Given the description of an element on the screen output the (x, y) to click on. 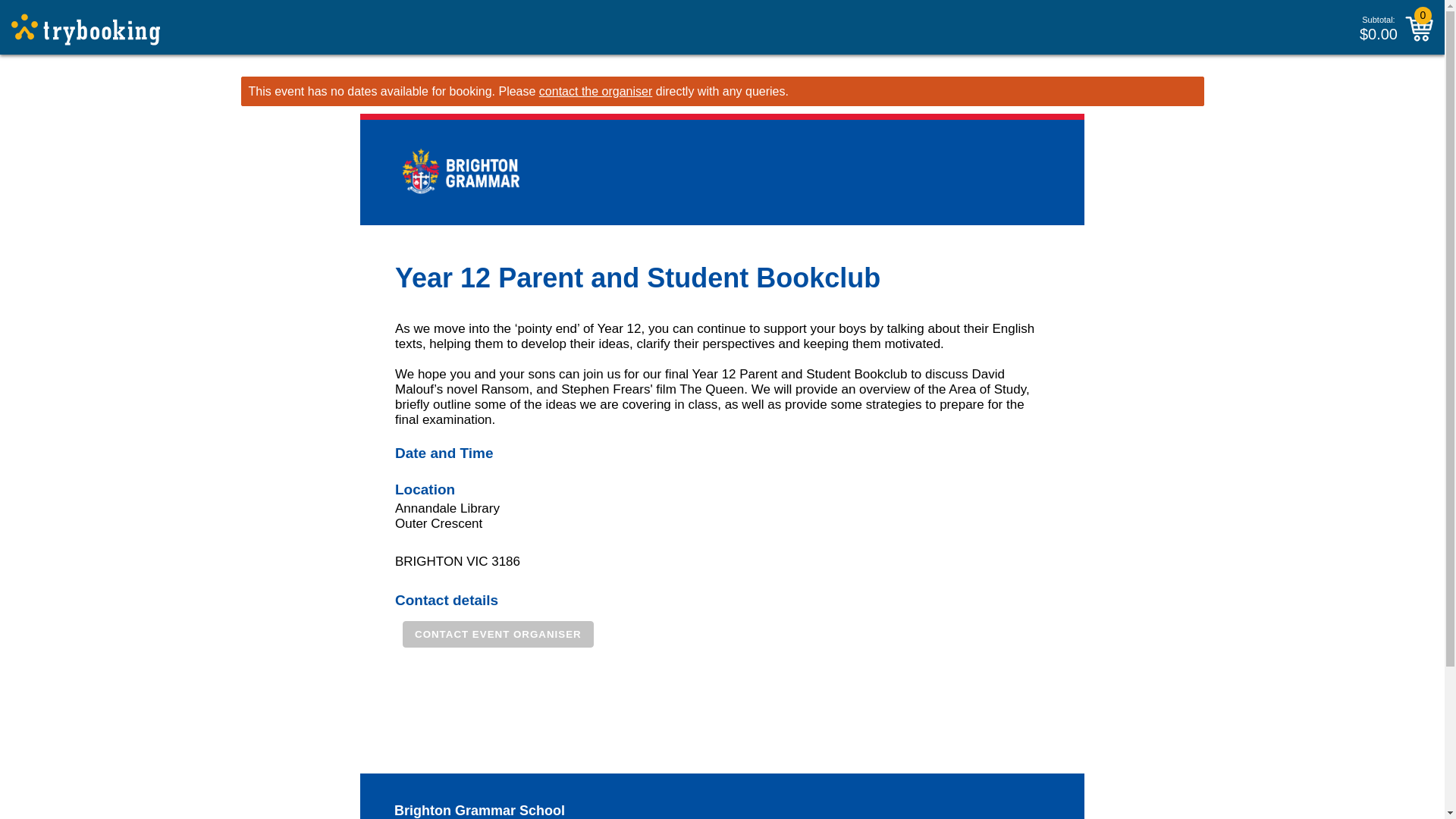
CONTACT EVENT ORGANISER (498, 633)
contact the organiser (595, 91)
TryBooking (85, 29)
